Given the description of an element on the screen output the (x, y) to click on. 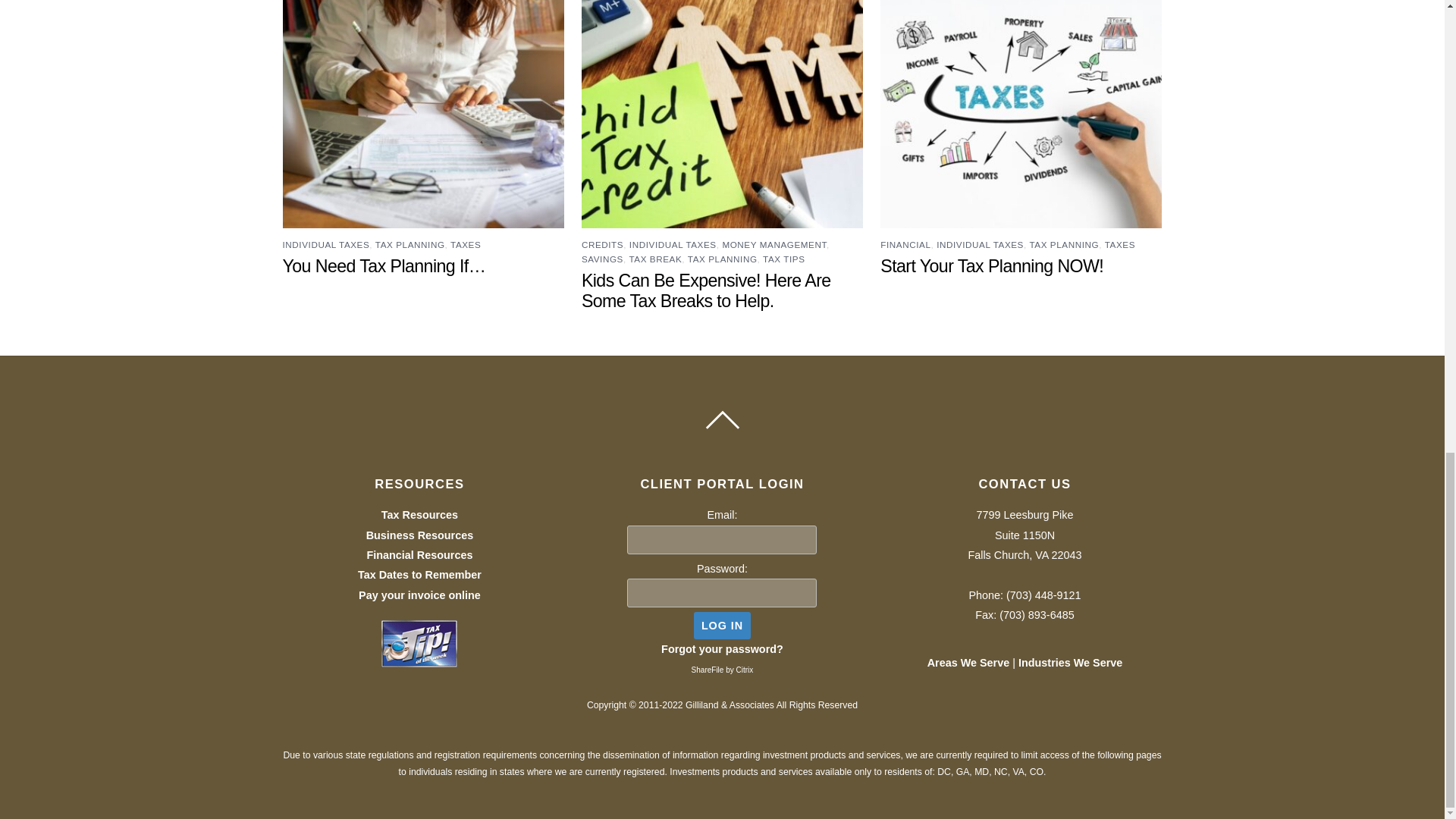
Start Your Tax Planning NOW! (991, 266)
Log In (722, 625)
Kids Can Be Expensive! Here Are Some Tax Breaks to Help. (705, 291)
